Given the description of an element on the screen output the (x, y) to click on. 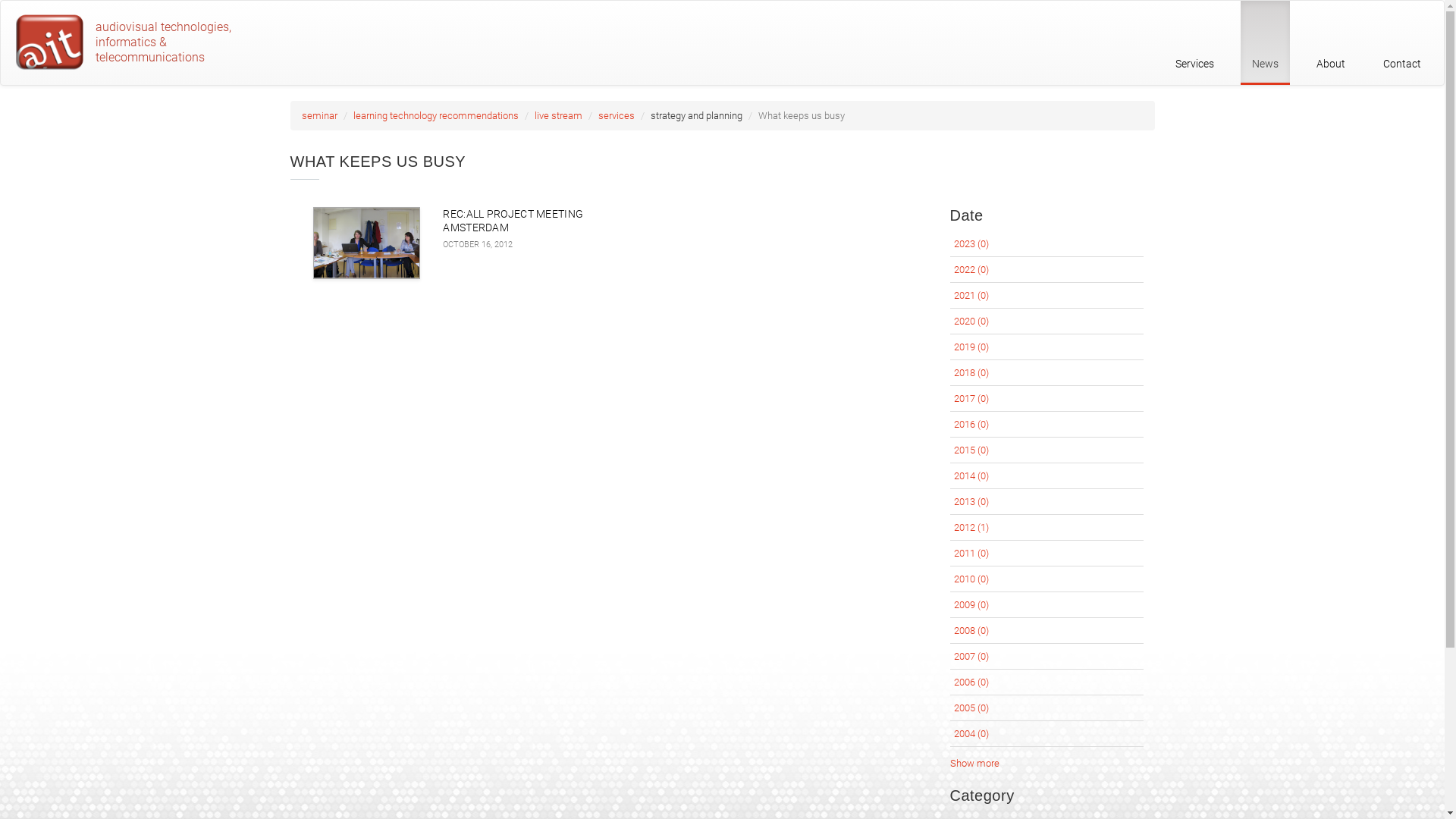
2022 (0)
Apply 2022 filter Element type: text (970, 269)
Skip to main content Element type: text (0, 0)
2021 (0)
Apply 2021 filter Element type: text (970, 295)
2010 (0)
Apply 2010 filter Element type: text (970, 578)
2005 (0)
Apply 2005 filter Element type: text (970, 707)
2009 (0)
Apply 2009 filter Element type: text (970, 604)
2012 (1)
Apply 2012 filter Element type: text (970, 527)
seminar Element type: text (319, 115)
REC:all Project Meeting Amsterdam 2012 Element type: hover (366, 243)
REC:ALL PROJECT MEETING AMSTERDAM
OCTOBER 16, 2012 Element type: text (458, 275)
2020 (0)
Apply 2020 filter Element type: text (970, 320)
services Element type: text (615, 115)
live stream Element type: text (557, 115)
audiovisual technologies, informatics & telecommunications Element type: text (129, 43)
2007 (0)
Apply 2007 filter Element type: text (970, 656)
2018 (0)
Apply 2018 filter Element type: text (970, 372)
2019 (0)
Apply 2019 filter Element type: text (970, 346)
2023 (0)
Apply 2023 filter Element type: text (970, 243)
Show more Element type: text (973, 762)
2006 (0)
Apply 2006 filter Element type: text (970, 681)
2013 (0)
Apply 2013 filter Element type: text (970, 501)
2014 (0)
Apply 2014 filter Element type: text (970, 475)
2004 (0)
Apply 2004 filter Element type: text (970, 733)
2015 (0)
Apply 2015 filter Element type: text (970, 449)
2017 (0)
Apply 2017 filter Element type: text (970, 398)
2016 (0)
Apply 2016 filter Element type: text (970, 423)
Services Element type: text (1194, 42)
2011 (0)
Apply 2011 filter Element type: text (970, 552)
Contact Element type: text (1401, 42)
About Element type: text (1330, 42)
2008 (0)
Apply 2008 filter Element type: text (970, 630)
learning technology recommendations Element type: text (435, 115)
News Element type: text (1264, 42)
